Given the description of an element on the screen output the (x, y) to click on. 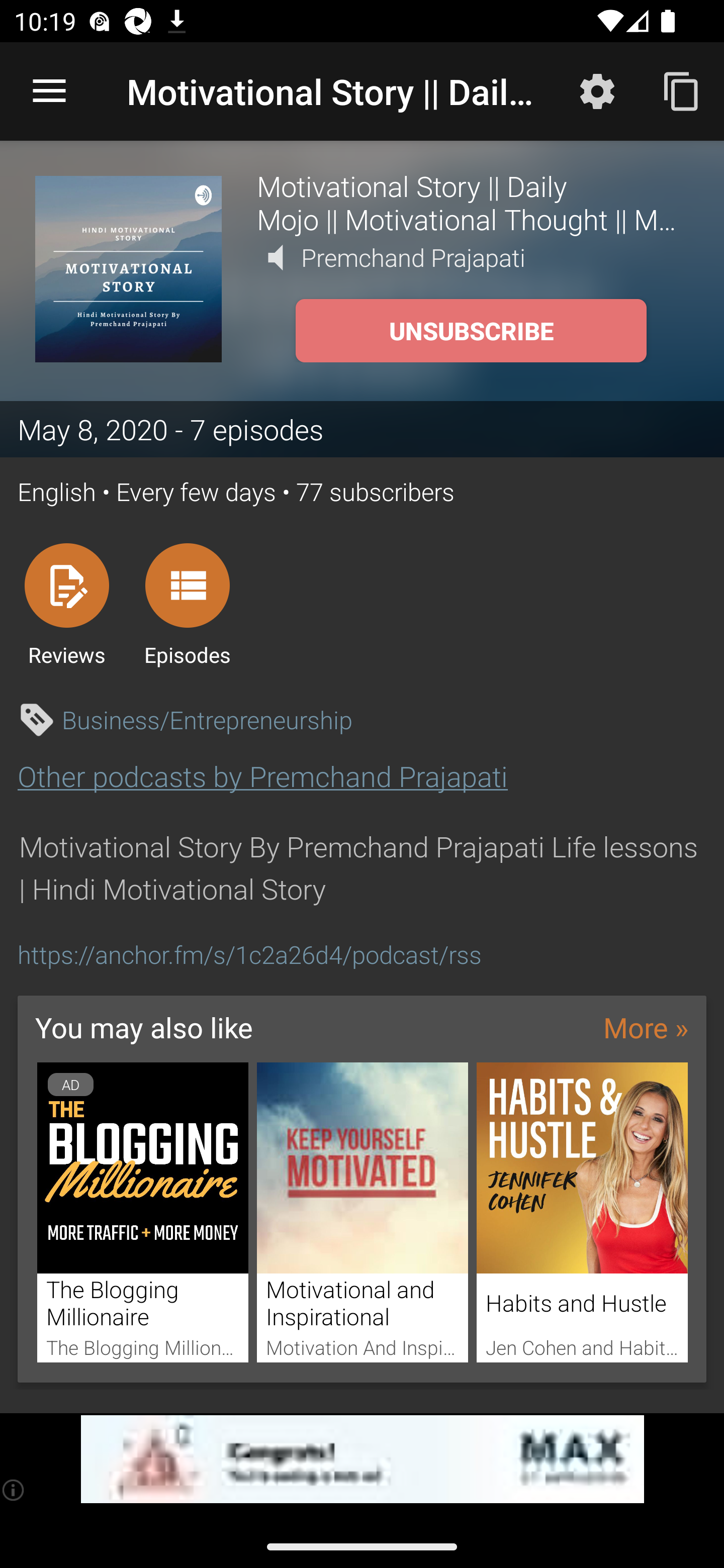
Open navigation sidebar (49, 91)
Settings (597, 90)
Copy feed url to clipboard (681, 90)
UNSUBSCRIBE (470, 330)
Reviews (66, 604)
Episodes (187, 604)
Other podcasts by Premchand Prajapati (262, 775)
More » (645, 1026)
Habits and Hustle Jen Cohen and Habit Nest (581, 1212)
app-monetization (362, 1459)
(i) (14, 1489)
